Given the description of an element on the screen output the (x, y) to click on. 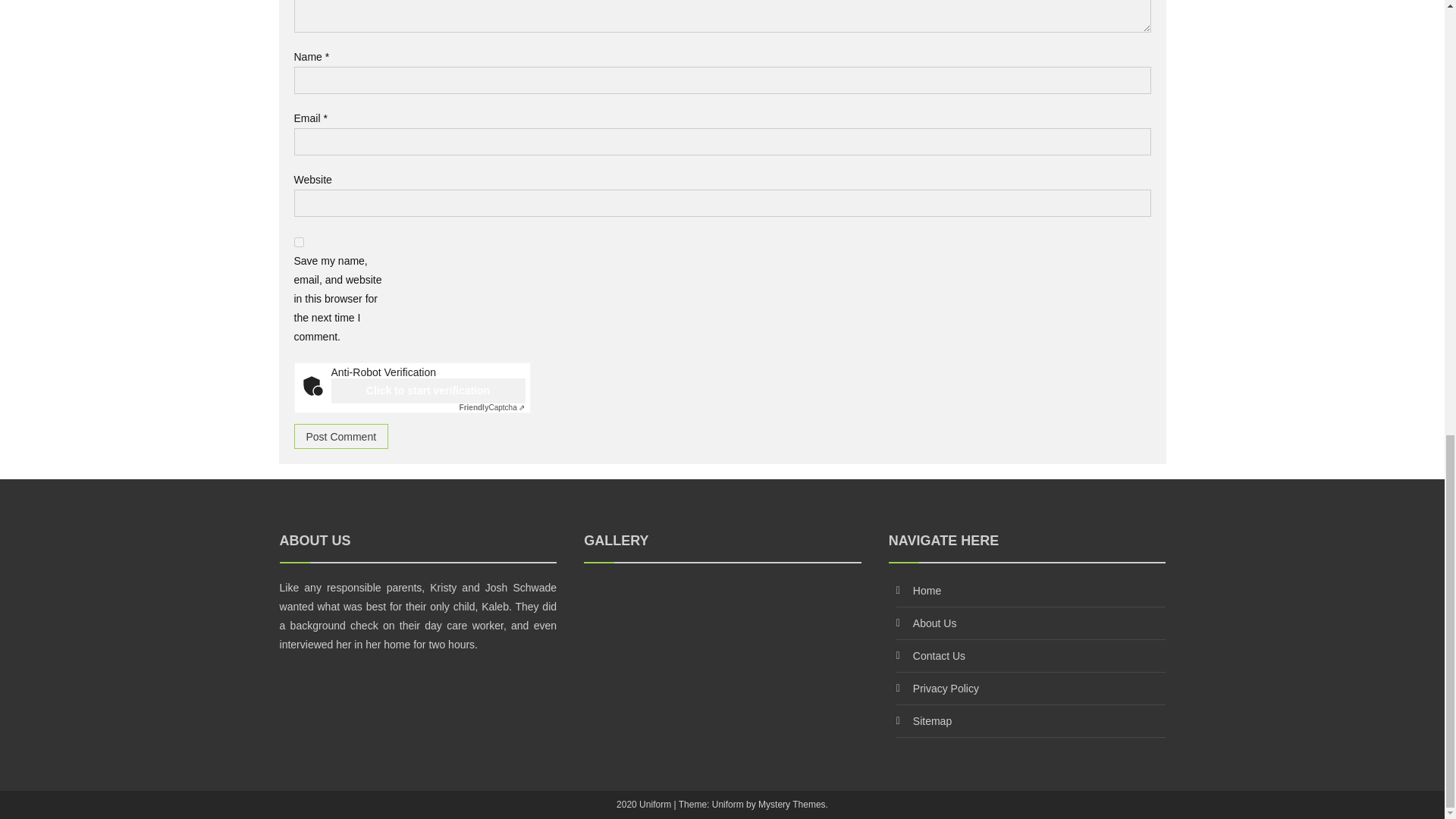
Mystery Themes (791, 804)
Sitemap (932, 720)
Click to start verification (427, 390)
About Us (934, 623)
Privacy Policy (945, 688)
Home (926, 590)
Post Comment (341, 436)
yes (299, 242)
Contact Us (938, 655)
Post Comment (341, 436)
